Given the description of an element on the screen output the (x, y) to click on. 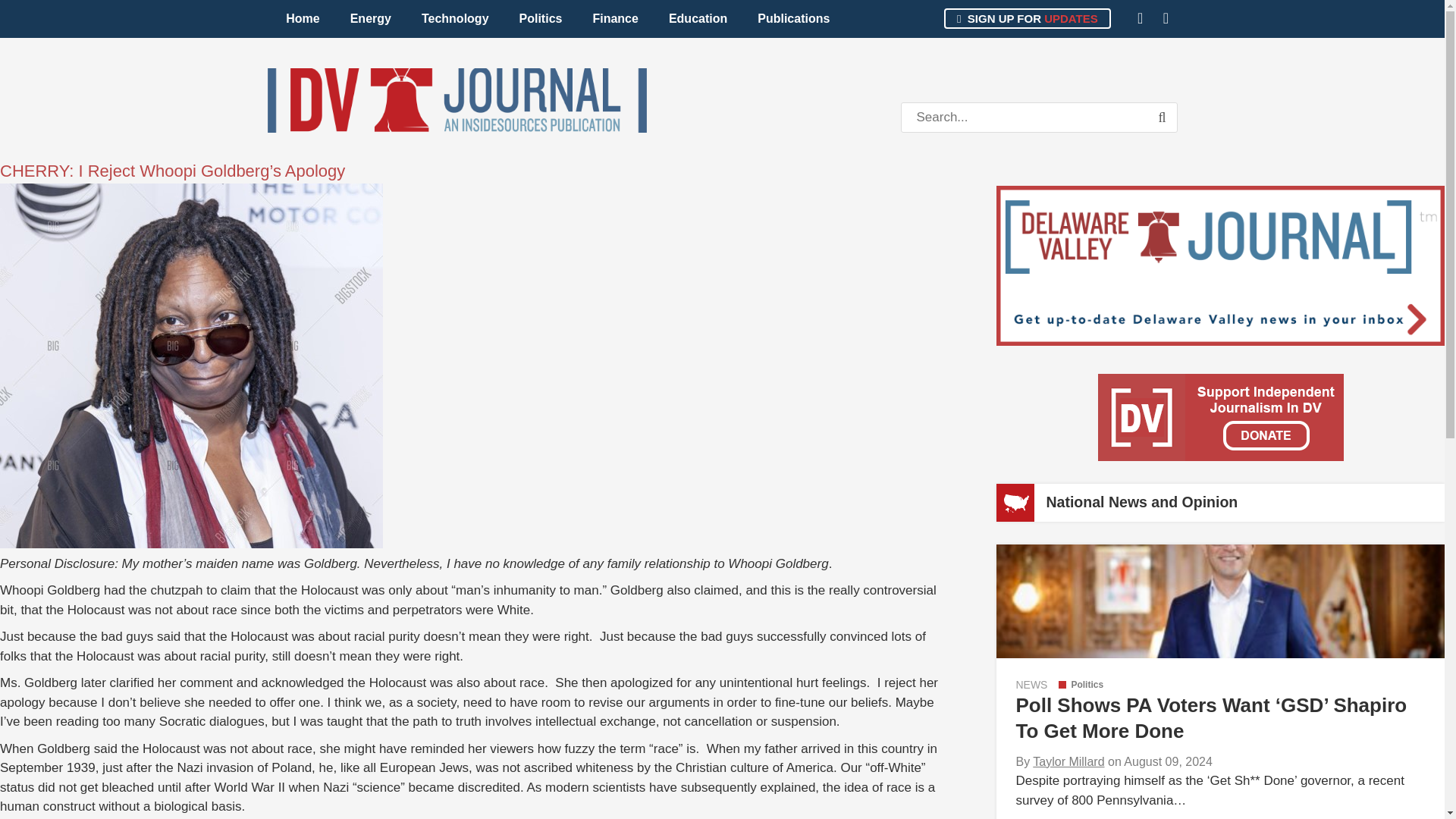
Politics (540, 18)
View all posts in Politics (1080, 684)
Finance (614, 18)
Taylor Millard (1067, 761)
Energy (370, 18)
Politics (1080, 684)
Home (302, 18)
Education (697, 18)
DV Journal (456, 99)
Publications (793, 18)
